Given the description of an element on the screen output the (x, y) to click on. 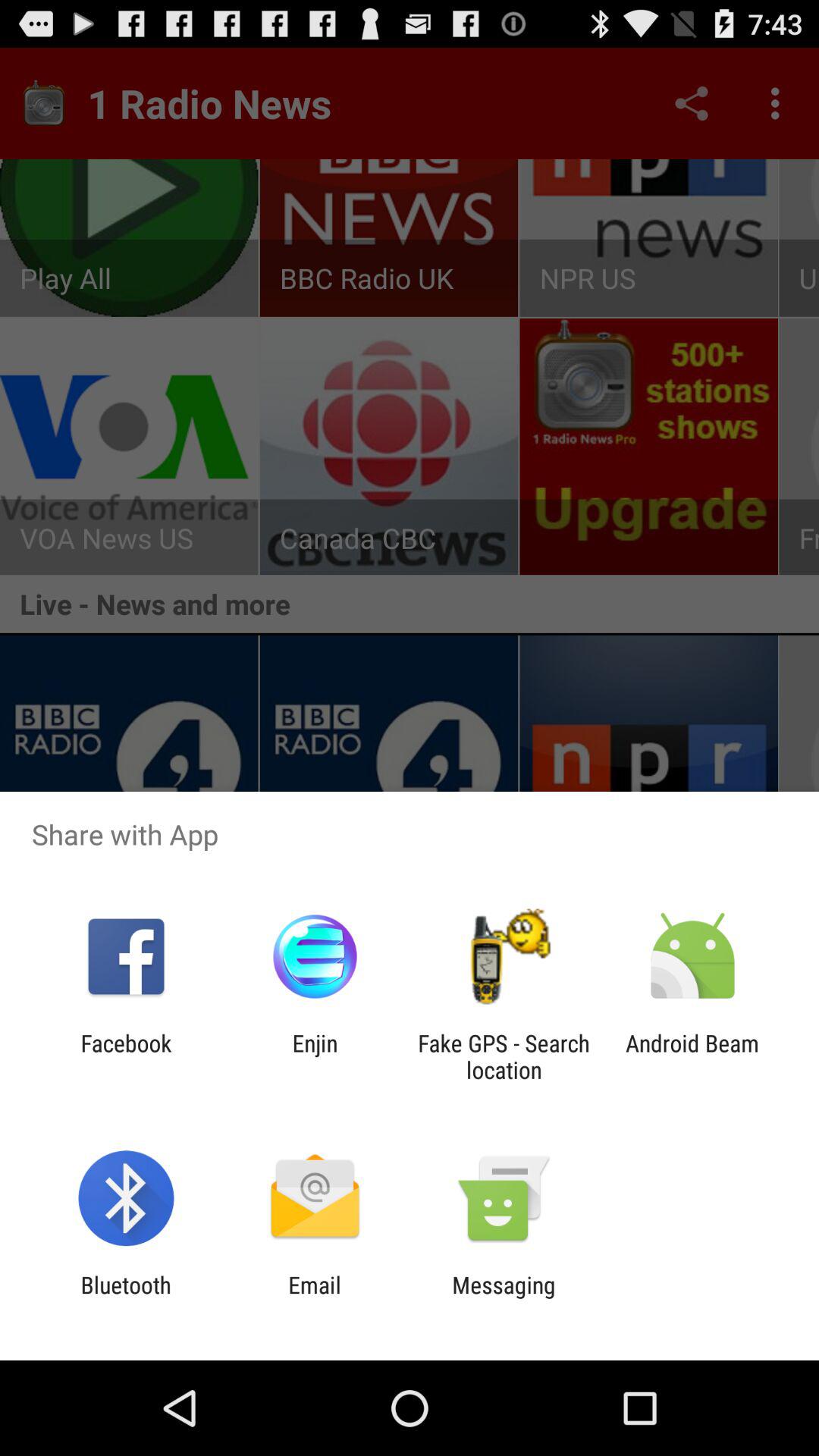
turn on app to the right of facebook (314, 1056)
